Given the description of an element on the screen output the (x, y) to click on. 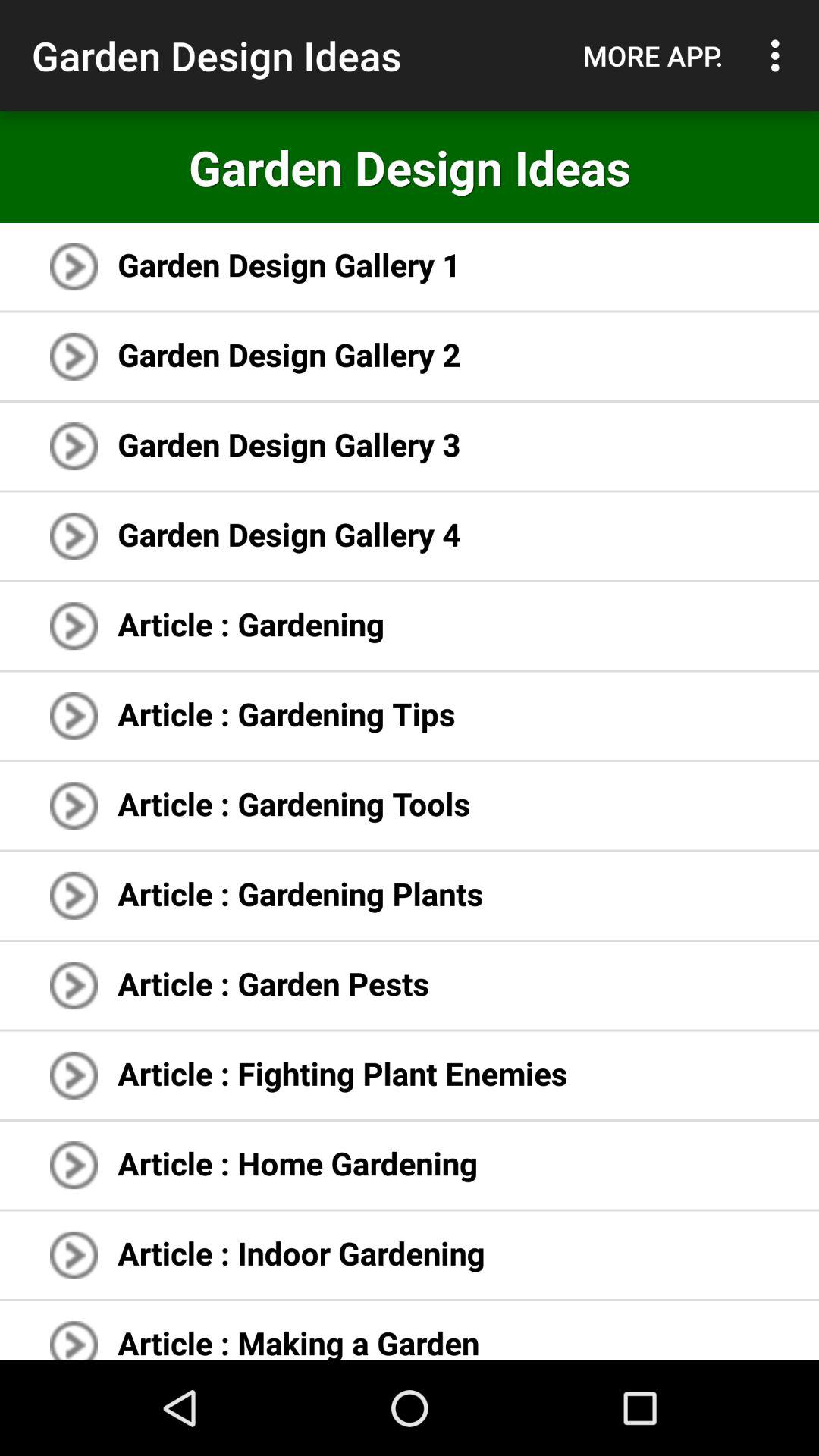
select more app. item (653, 55)
